Given the description of an element on the screen output the (x, y) to click on. 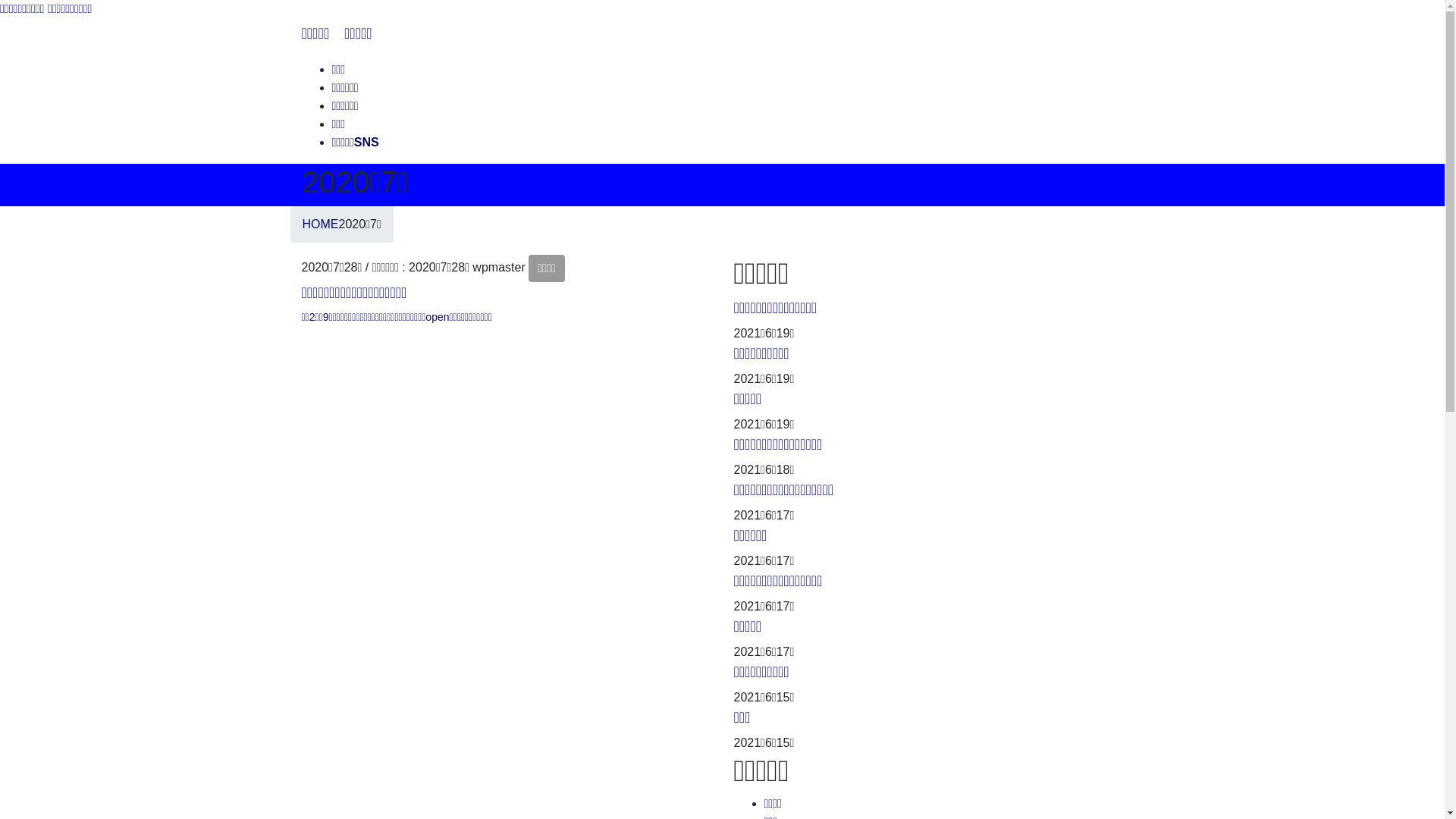
HOME Element type: text (319, 223)
